Given the description of an element on the screen output the (x, y) to click on. 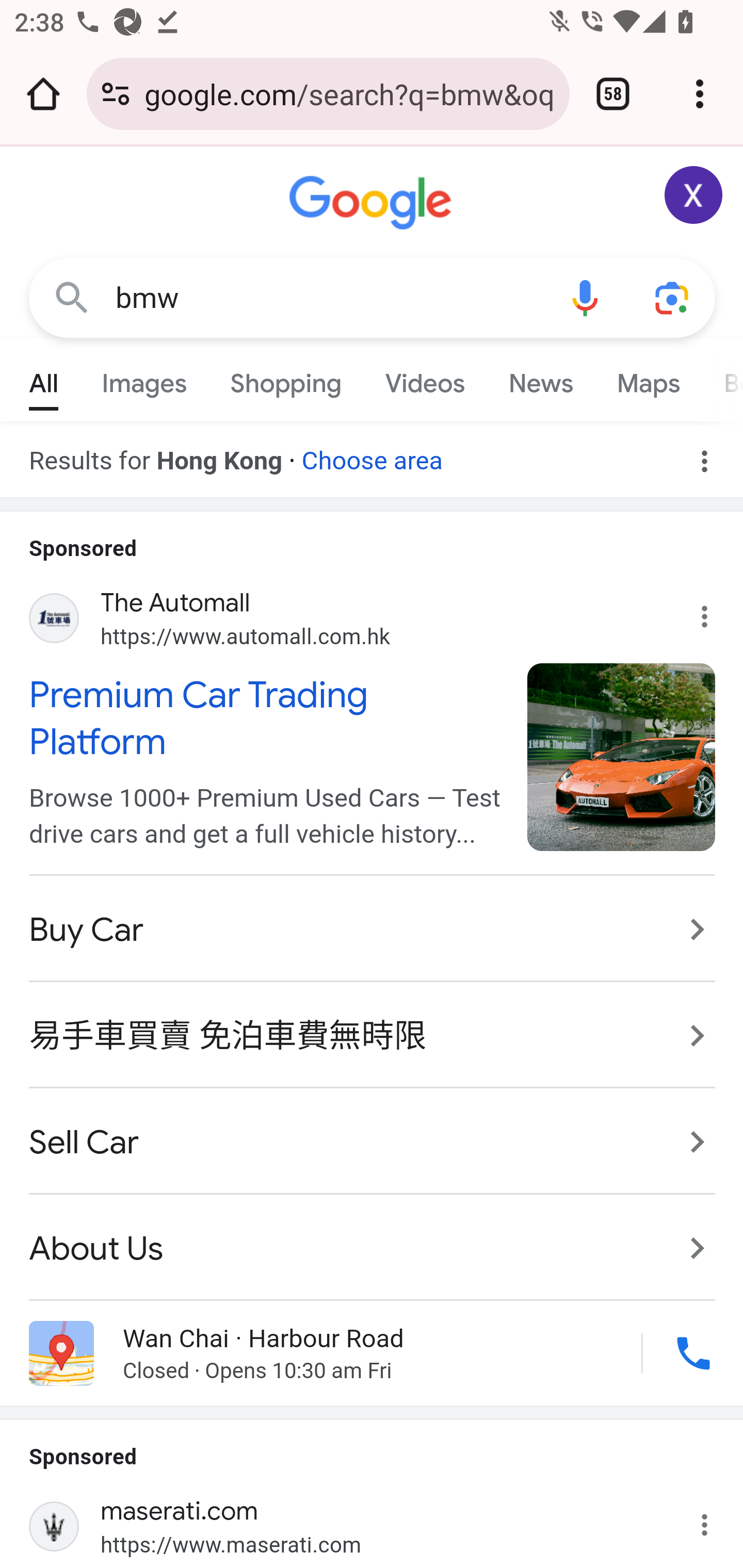
Open the home page (43, 93)
Connection is secure (115, 93)
Switch or close tabs (612, 93)
Customize and control Google Chrome (699, 93)
Google (372, 203)
Google Account: Xiaoran (zxrappiumtest@gmail.com) (694, 195)
Google Search (71, 296)
Search using your camera or photos (672, 296)
bmw (328, 297)
Images (144, 378)
Shopping (285, 378)
Videos (424, 378)
News (540, 378)
Maps (647, 378)
Choose area (371, 453)
Why this ad? (714, 611)
Image from automall.com.hk (621, 756)
Premium Car Trading Platform (266, 717)
Buy Car (372, 930)
易手車買賣 免泊車費無時限 (372, 1035)
Sell Car (372, 1141)
About Us (372, 1236)
Why this ad? (714, 1519)
